Given the description of an element on the screen output the (x, y) to click on. 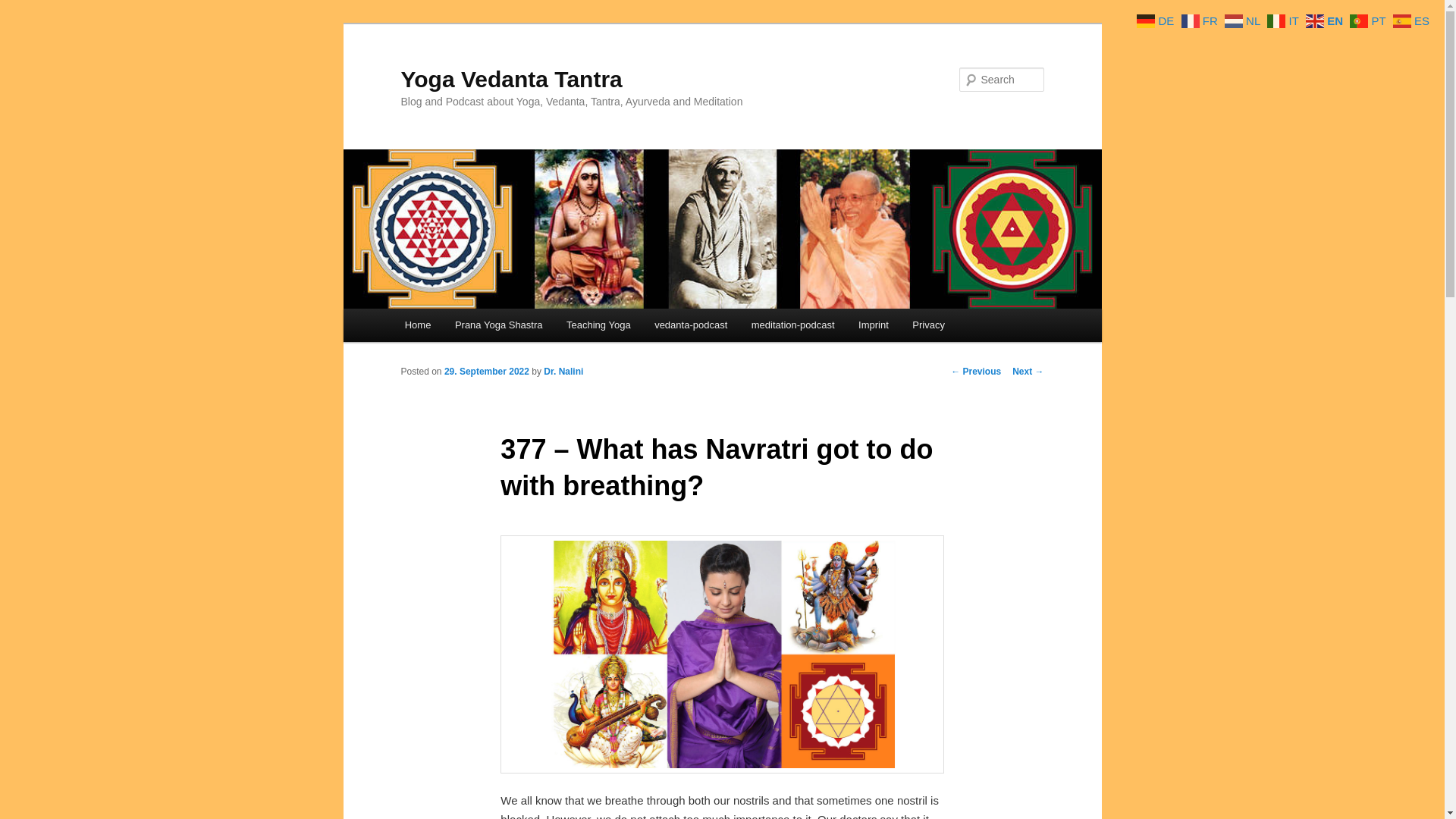
Search (24, 8)
Portuguese (1369, 19)
Spanish (1412, 19)
View all posts by Dr. Nalini (563, 371)
Italian (1284, 19)
29. September 2022 (486, 371)
Teaching Yoga (598, 324)
French (1200, 19)
EN (1326, 19)
